Given the description of an element on the screen output the (x, y) to click on. 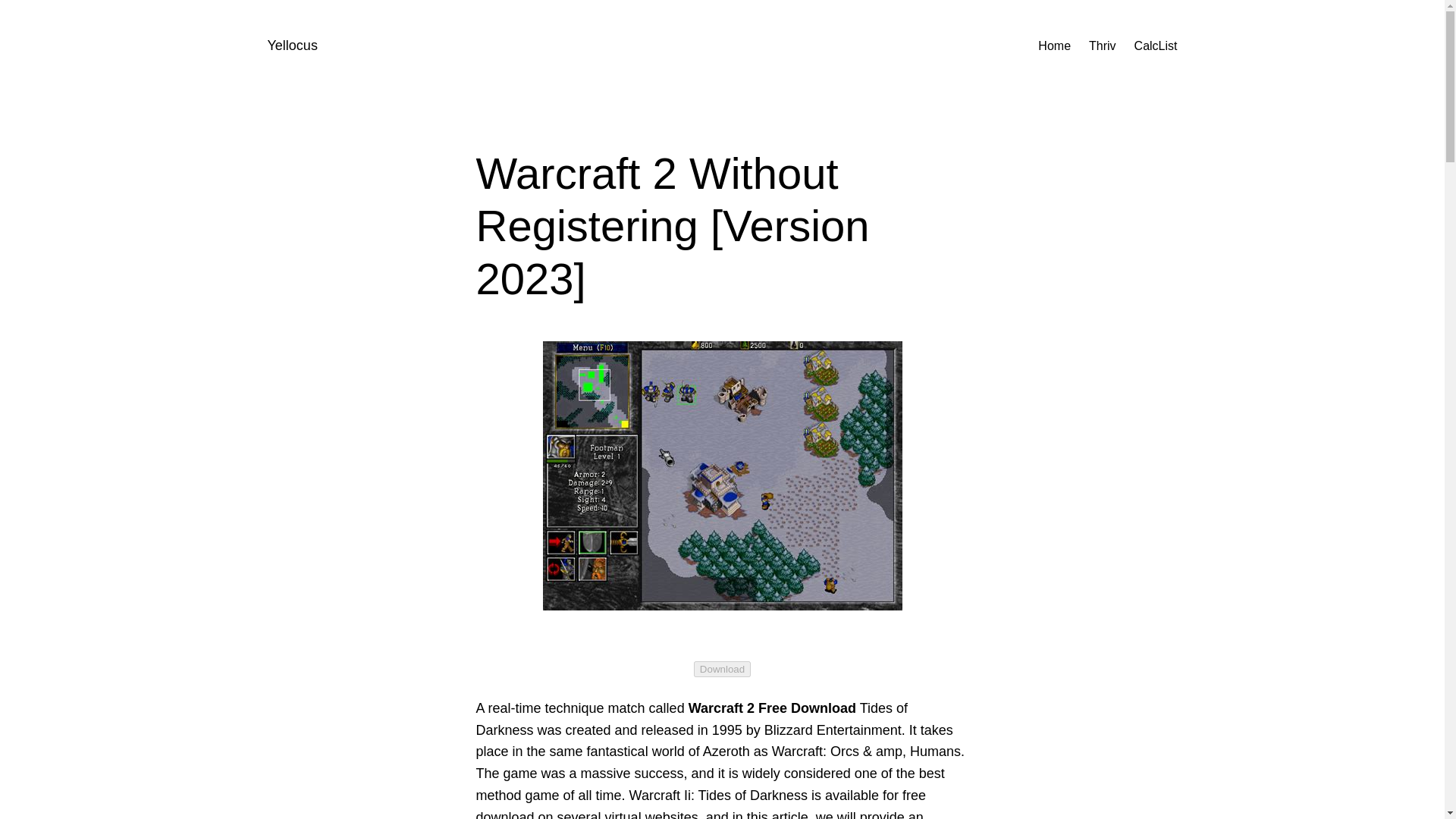
Download (722, 667)
Home (1054, 46)
Yellocus (291, 45)
Download (722, 668)
CalcList (1155, 46)
Thriv (1102, 46)
